Given the description of an element on the screen output the (x, y) to click on. 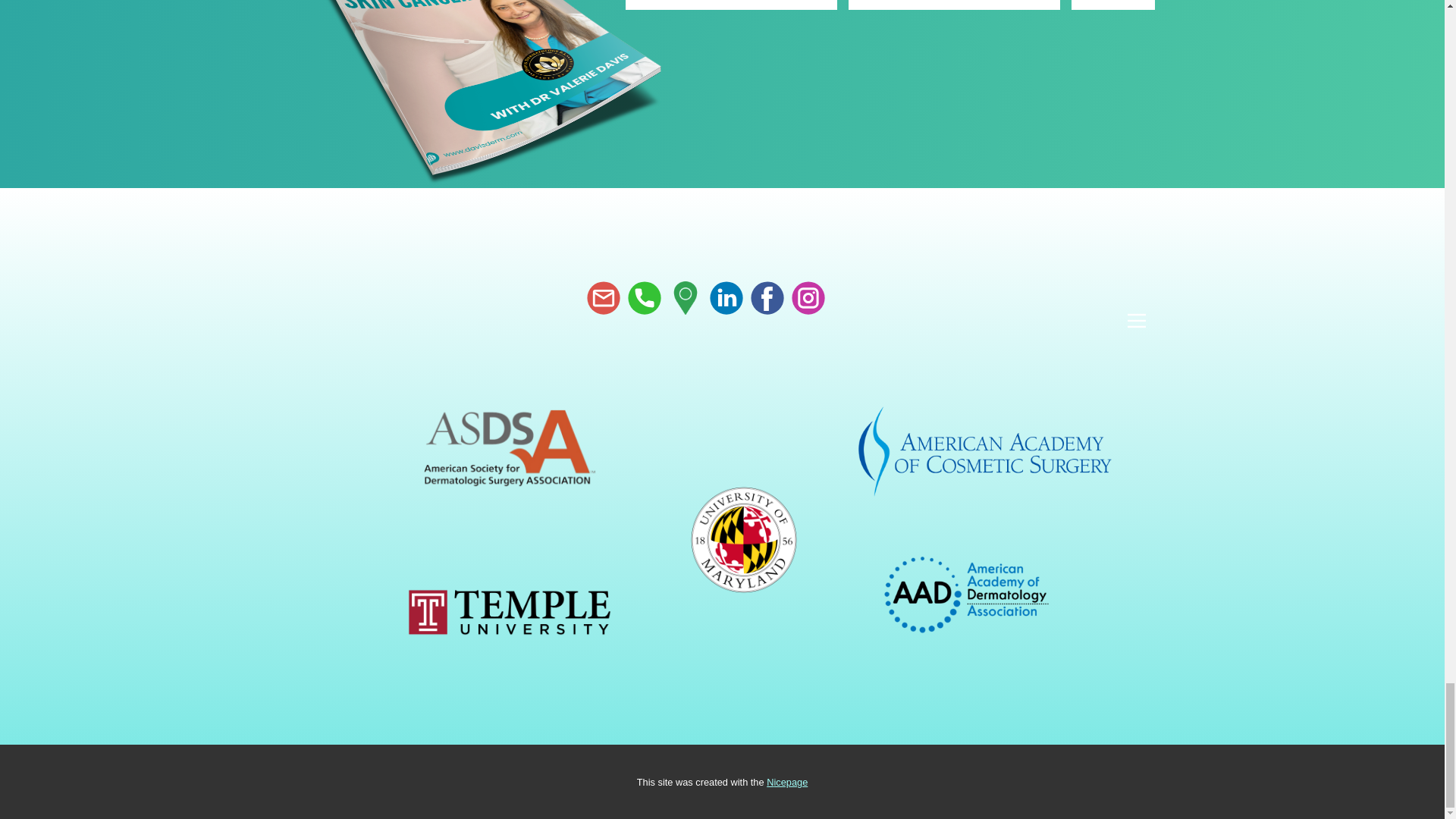
Instagram (808, 297)
Phone (644, 297)
LinkedIn (726, 297)
Facebook (767, 297)
Email (603, 297)
Custom (684, 297)
